Given the description of an element on the screen output the (x, y) to click on. 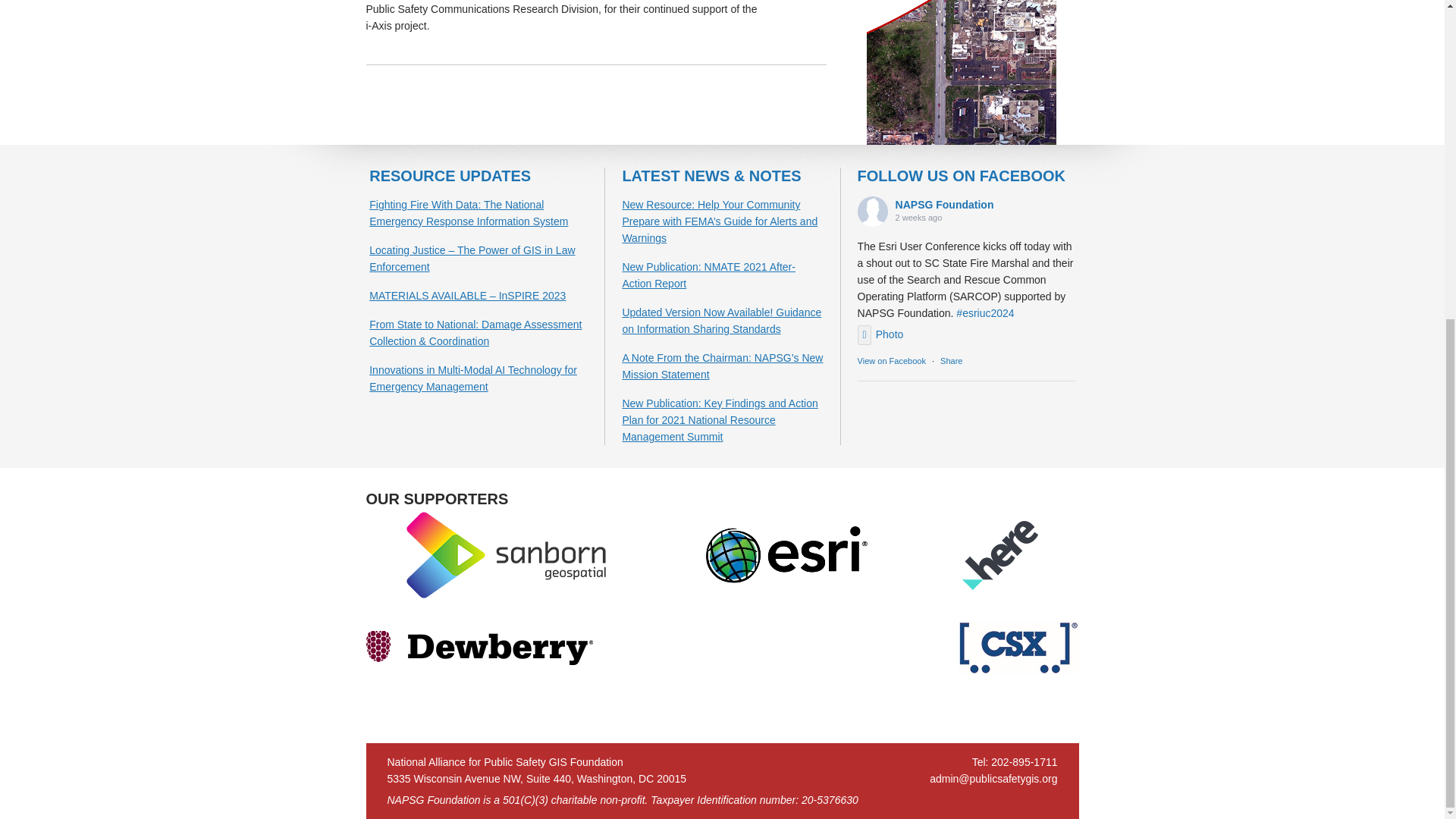
View on Facebook (891, 360)
NAPSG Foundation (944, 204)
Share (951, 360)
New Publication: NMATE 2021 After-Action Report (707, 275)
Tel: 202-895-1711 (1015, 761)
Photo (880, 334)
Share (951, 360)
New Publication: NMATE 2021 After-Action Report (707, 275)
View on Facebook (891, 360)
